Given the description of an element on the screen output the (x, y) to click on. 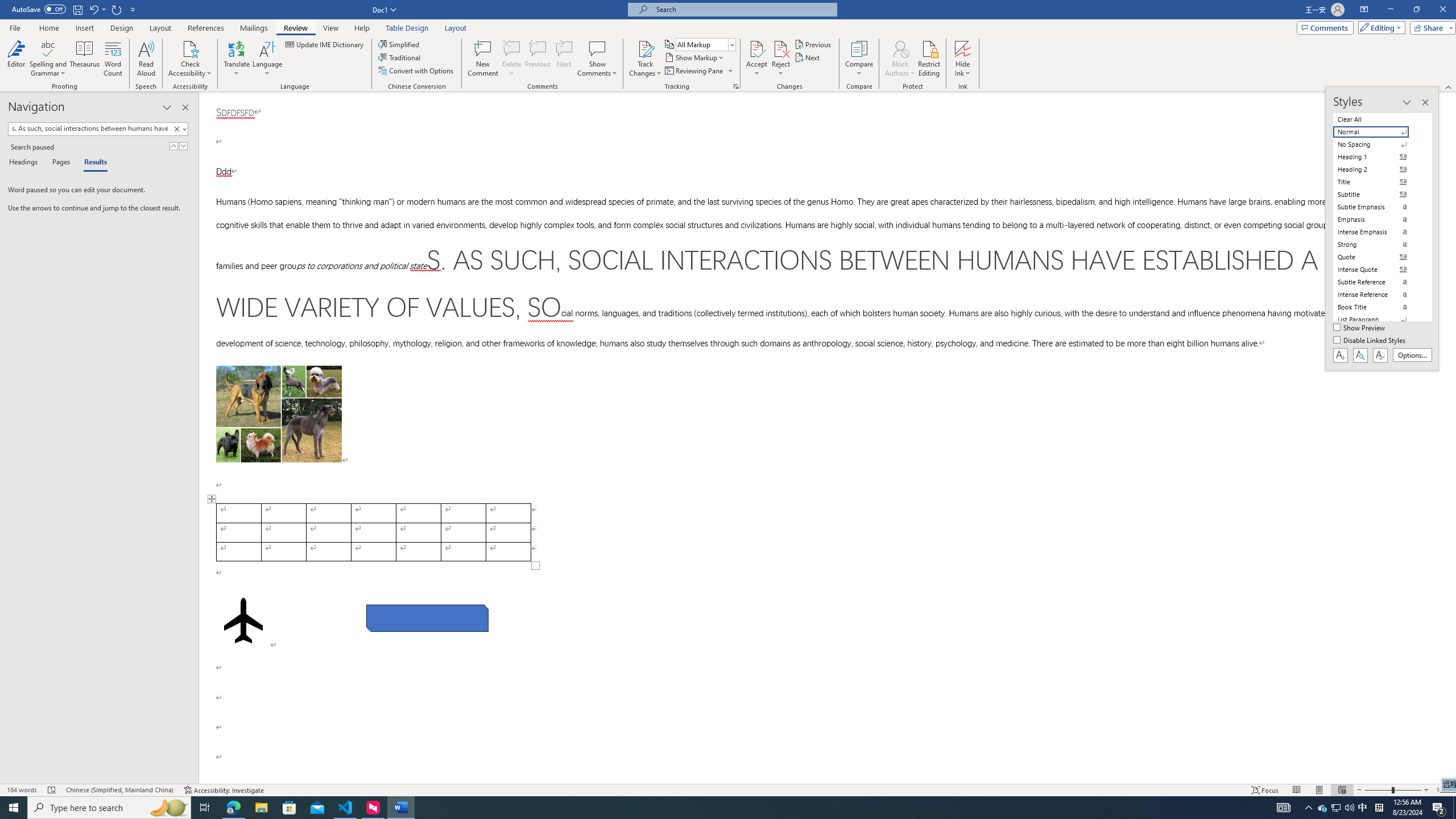
Reviewing Pane (698, 69)
No Spacing (1377, 144)
Zoom 100% (1443, 790)
Previous Result (173, 145)
Check Accessibility (189, 58)
Restrict Editing (929, 58)
Delete (511, 48)
Show Markup (695, 56)
